Given the description of an element on the screen output the (x, y) to click on. 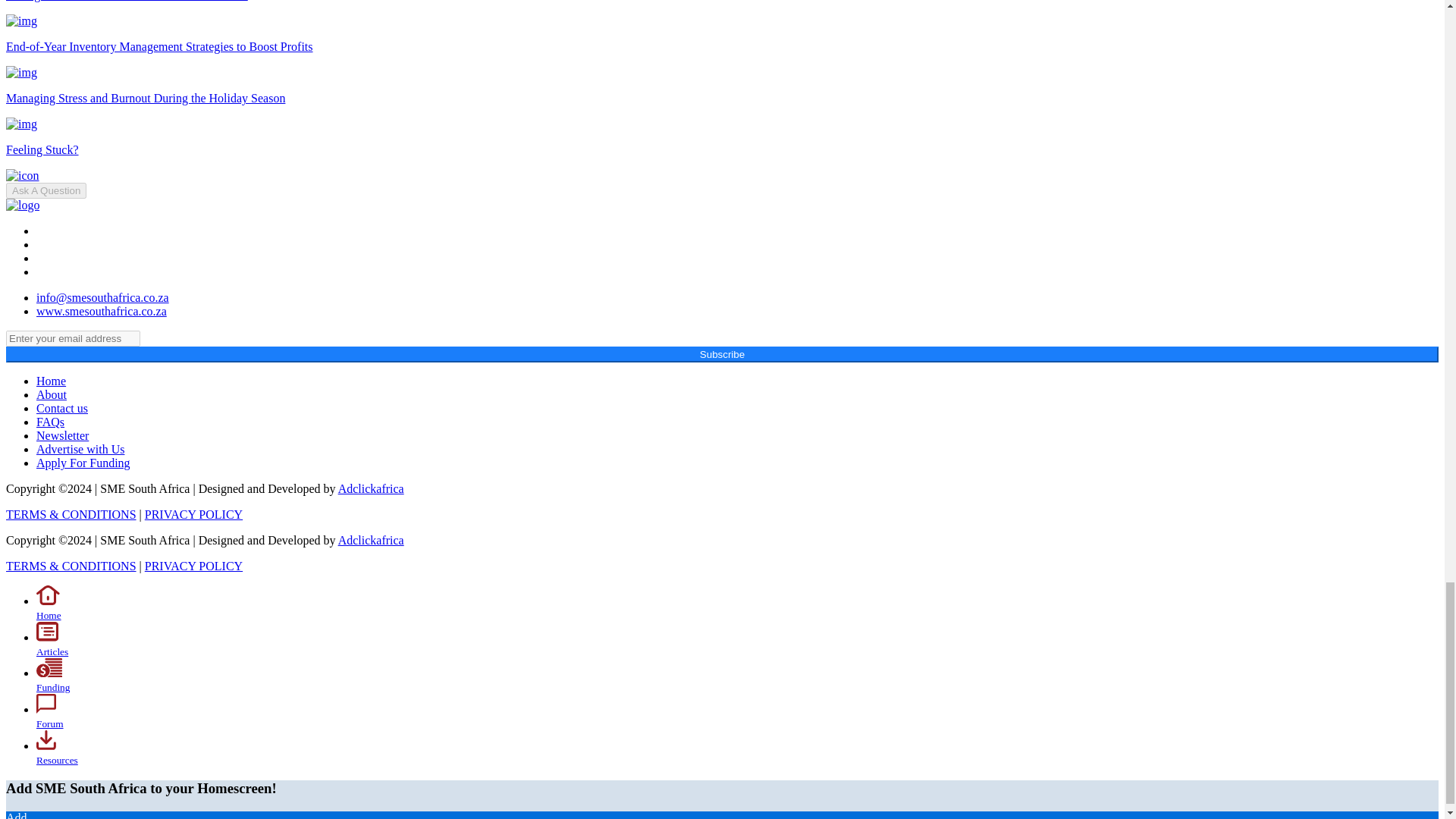
Ask A Question (45, 190)
